Given the description of an element on the screen output the (x, y) to click on. 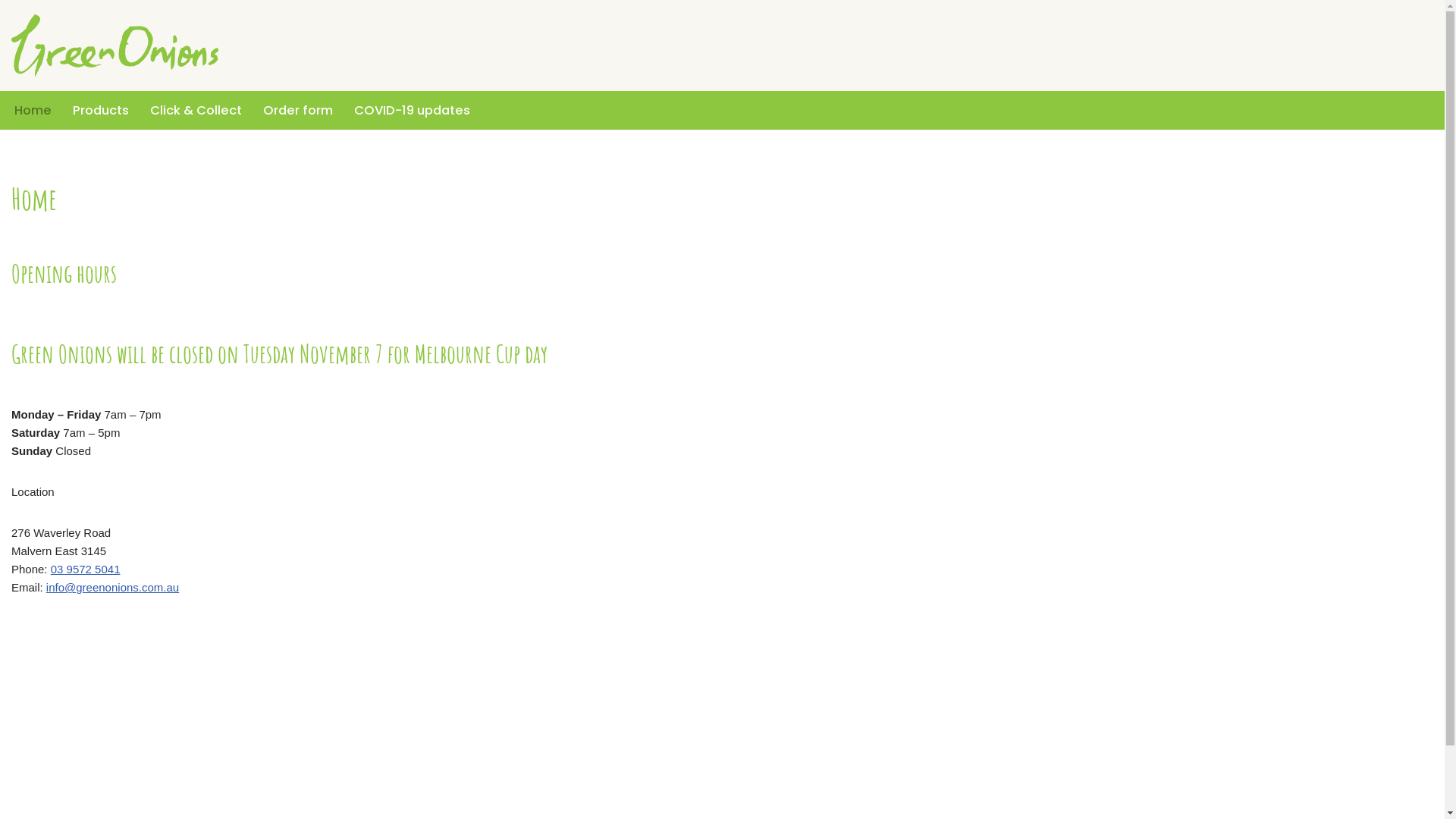
info@greenonions.com.au Element type: text (112, 586)
03 9572 5041 Element type: text (85, 568)
Home Element type: text (32, 110)
Order form Element type: text (297, 110)
Skip to content Element type: text (11, 31)
Products Element type: text (100, 110)
COVID-19 updates Element type: text (412, 110)
Click & Collect Element type: text (195, 110)
